Given the description of an element on the screen output the (x, y) to click on. 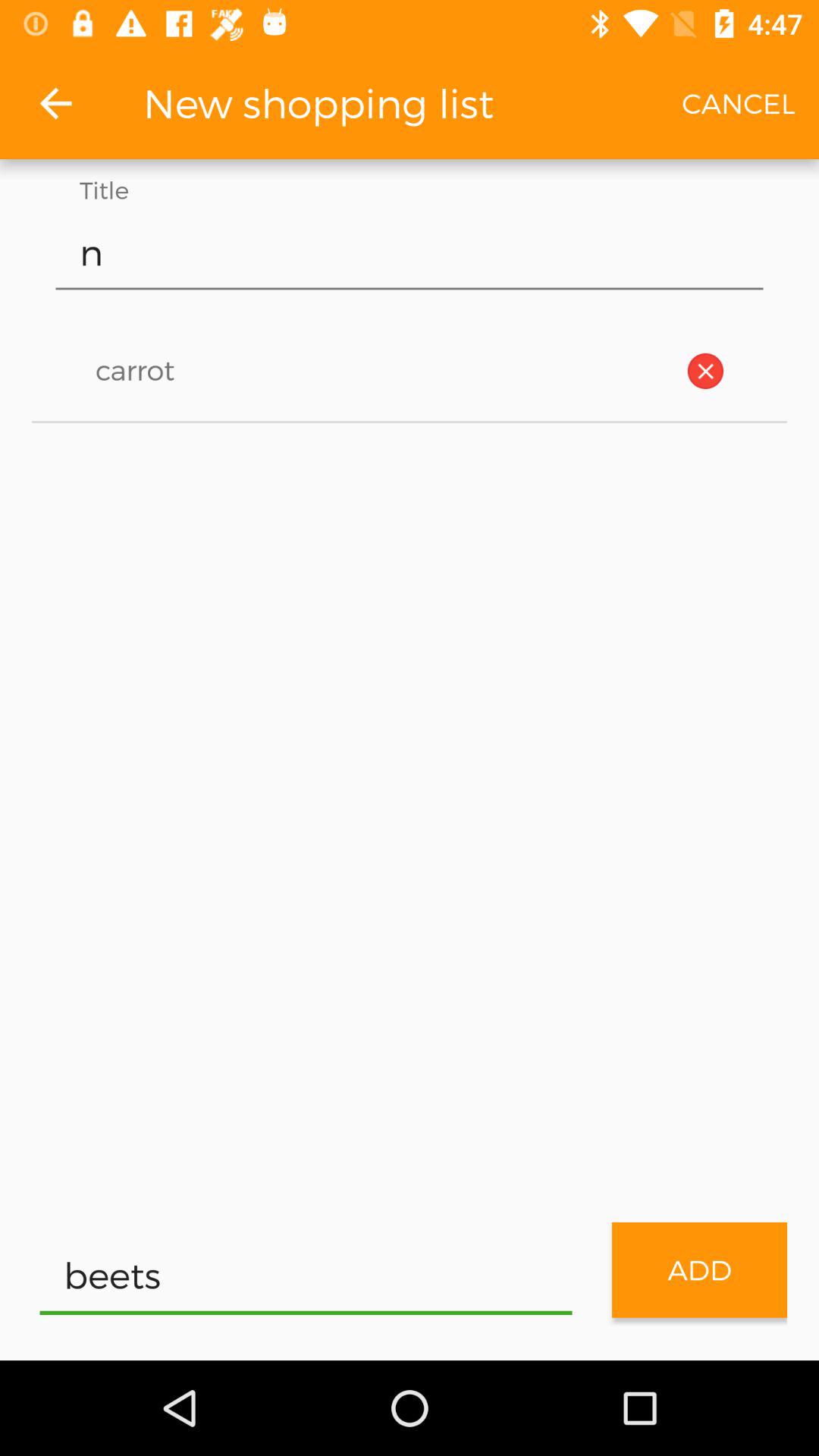
close (705, 370)
